Given the description of an element on the screen output the (x, y) to click on. 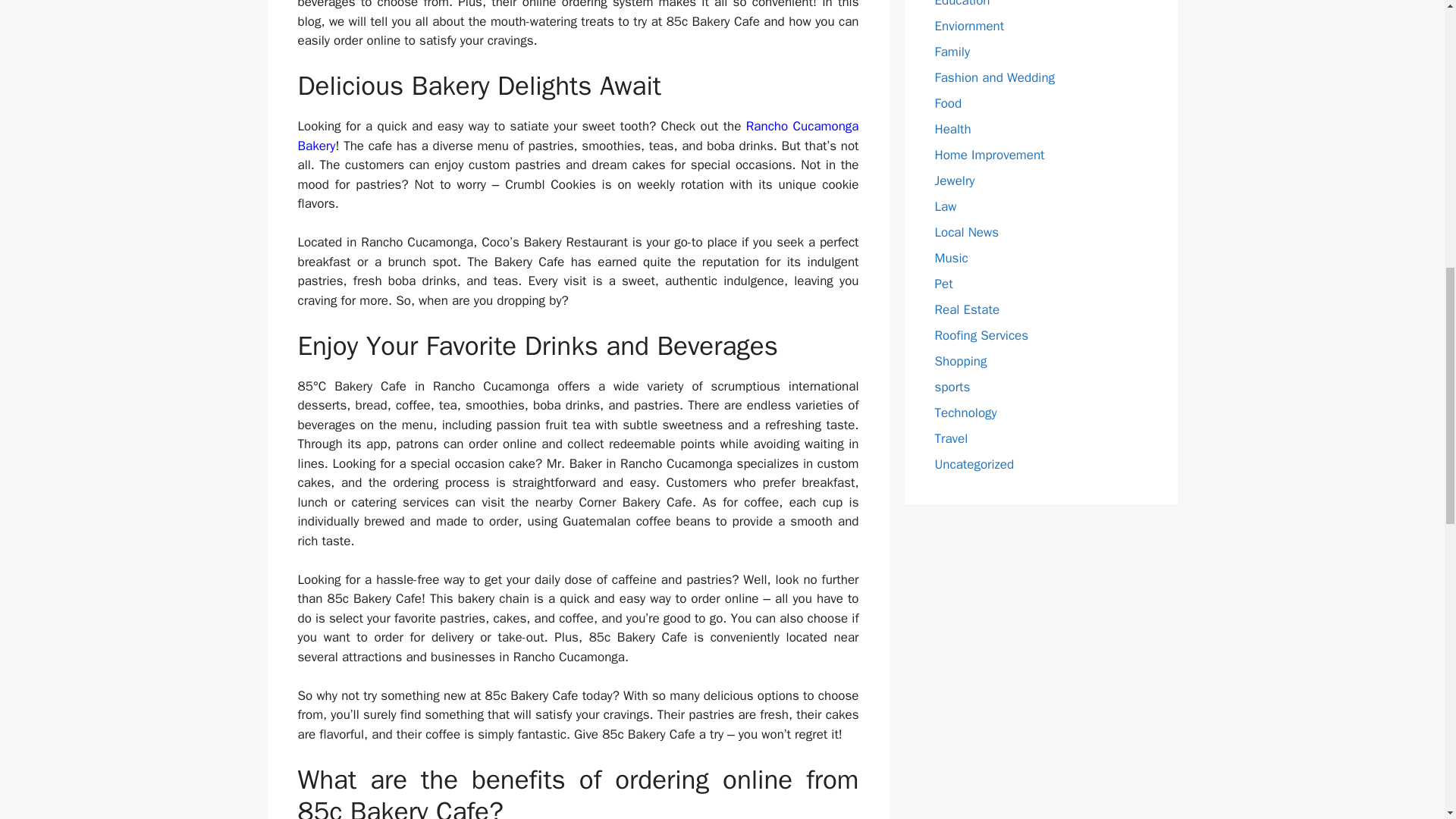
Health (952, 129)
Food (947, 103)
Enviornment (969, 26)
Family (951, 51)
Fashion and Wedding (994, 77)
Rancho Cucamonga Bakery (578, 135)
Education (962, 4)
